Given the description of an element on the screen output the (x, y) to click on. 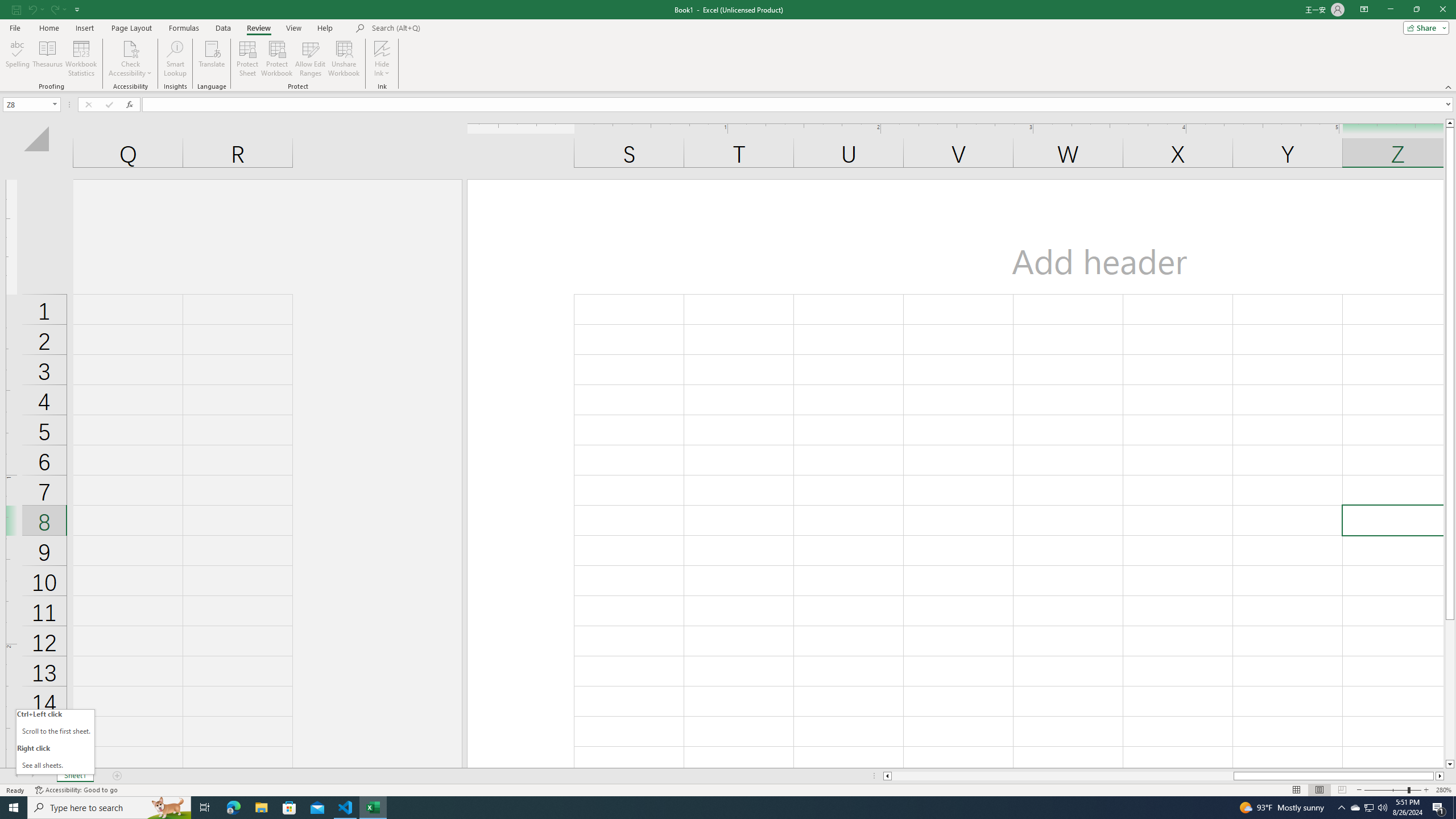
Spelling... (17, 58)
Protect Sheet... (247, 58)
